Given the description of an element on the screen output the (x, y) to click on. 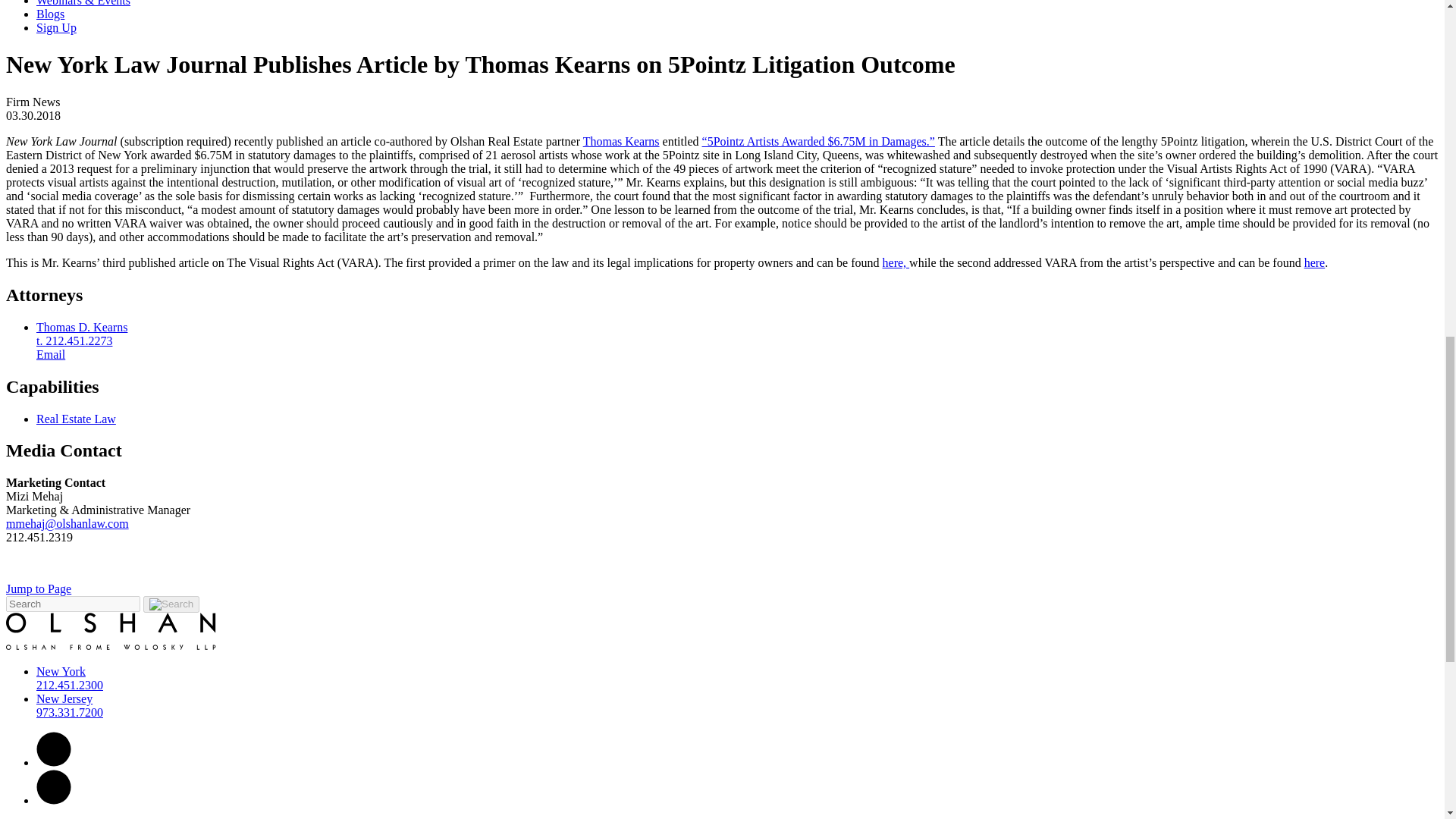
Linkedin (53, 749)
Twitter (53, 799)
Footer Logo (110, 631)
Linkedin (53, 762)
